Given the description of an element on the screen output the (x, y) to click on. 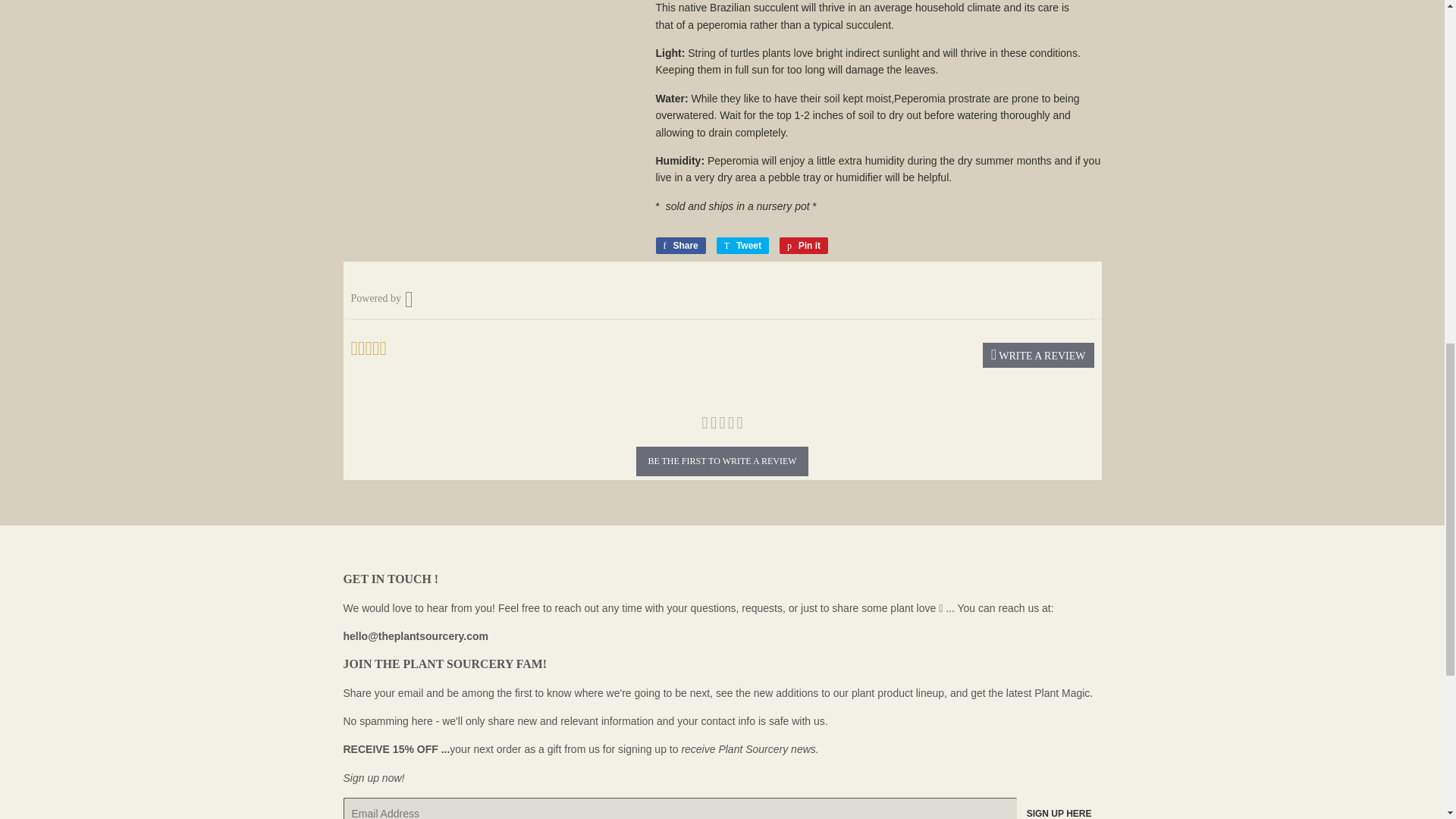
Tweet on Twitter (742, 245)
Share on Facebook (679, 245)
Pin on Pinterest (803, 245)
